Given the description of an element on the screen output the (x, y) to click on. 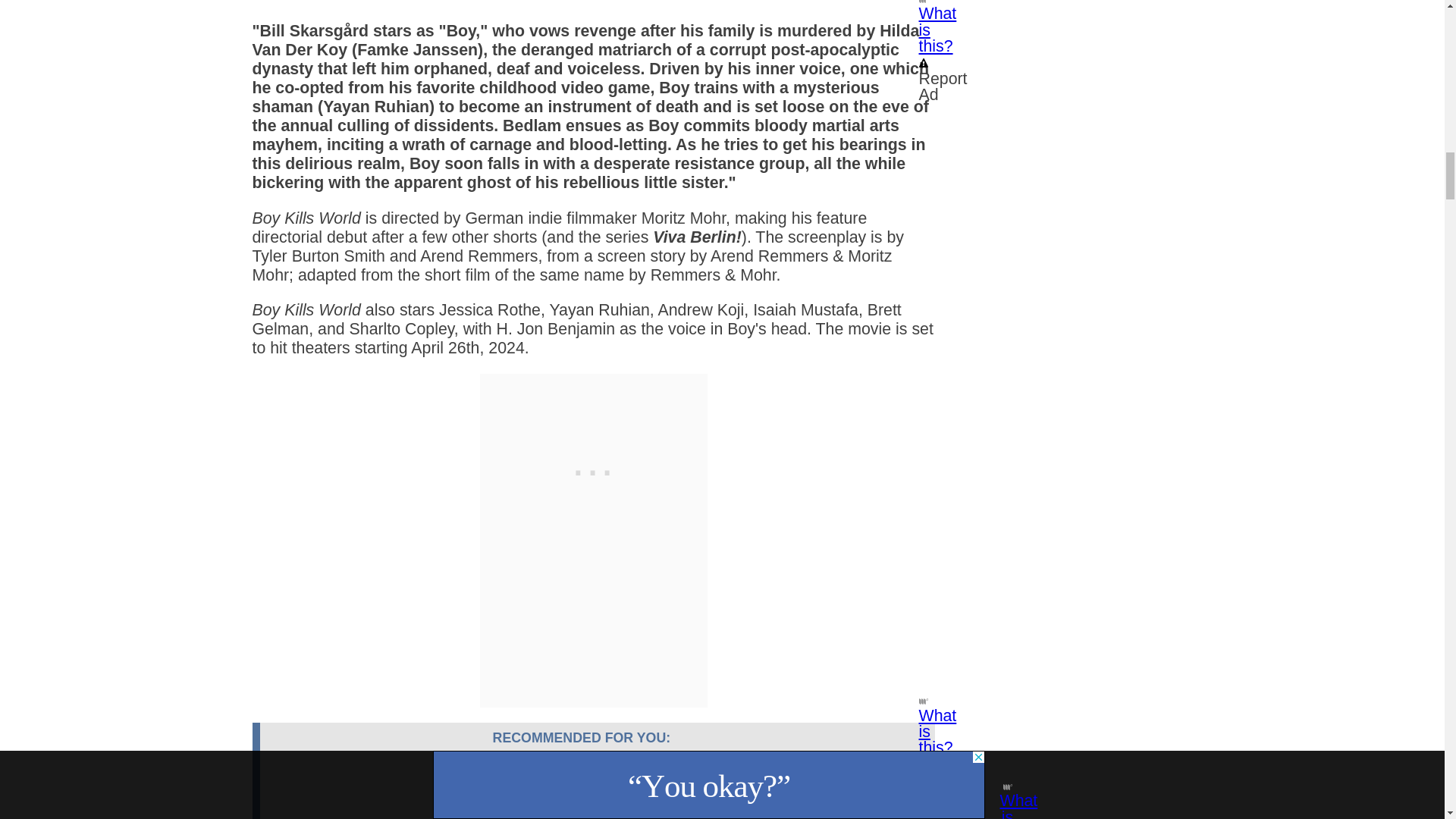
3rd party ad content (592, 468)
